Given the description of an element on the screen output the (x, y) to click on. 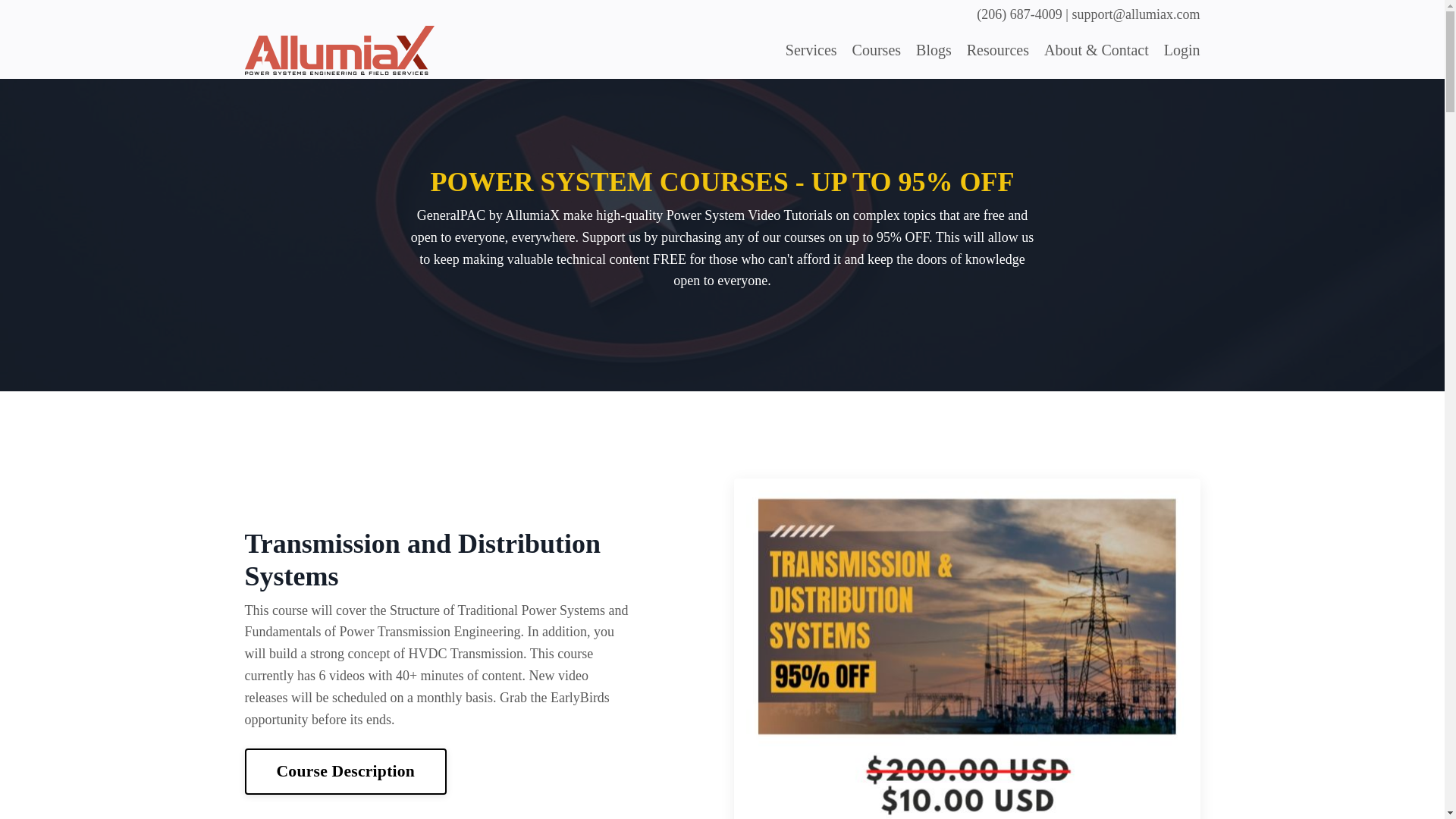
Resources (997, 49)
Services (811, 49)
Courses (876, 49)
Login (1181, 49)
Blogs (933, 49)
Course Description (345, 770)
